Given the description of an element on the screen output the (x, y) to click on. 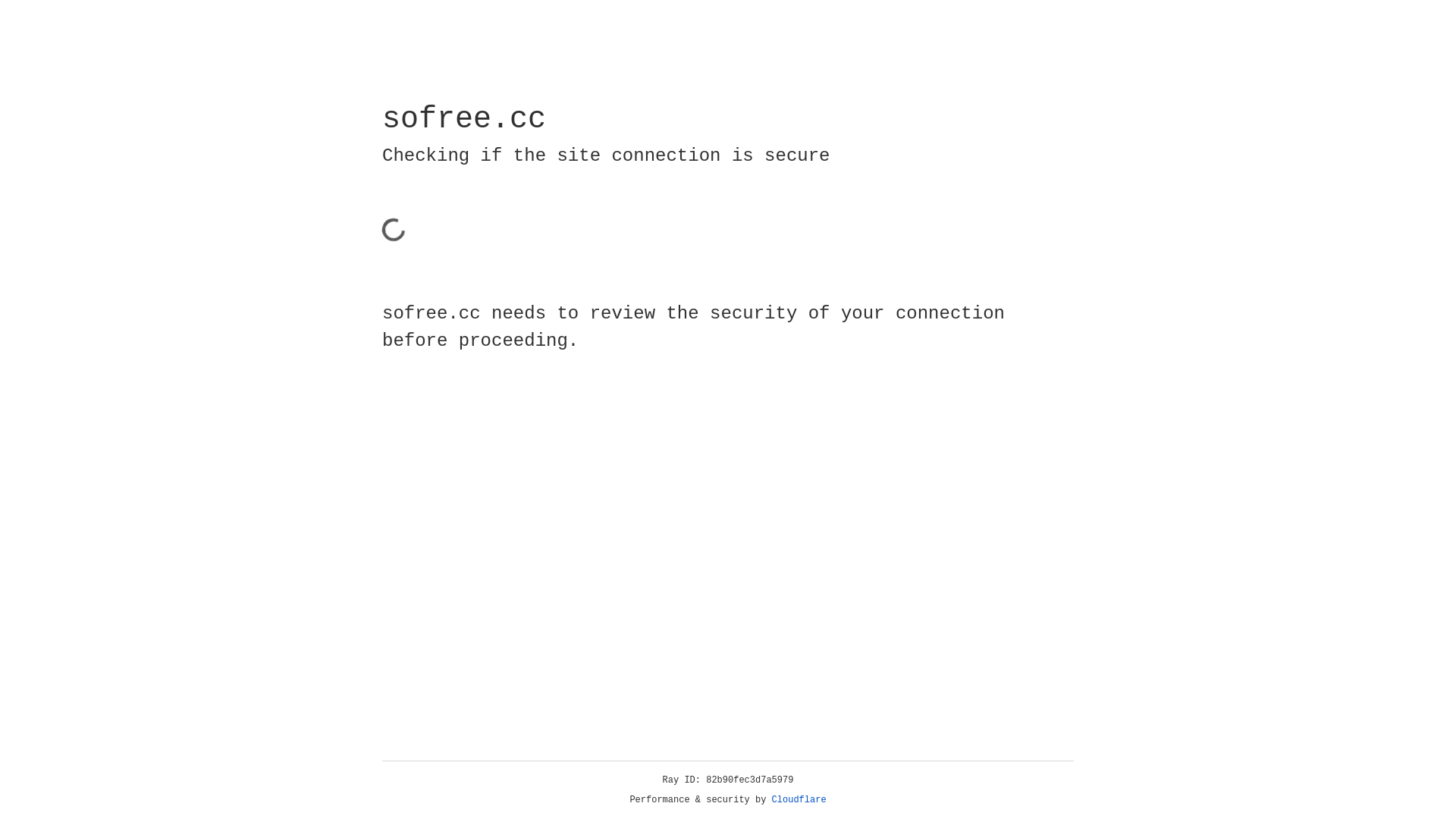
Cloudflare Element type: text (798, 799)
